Given the description of an element on the screen output the (x, y) to click on. 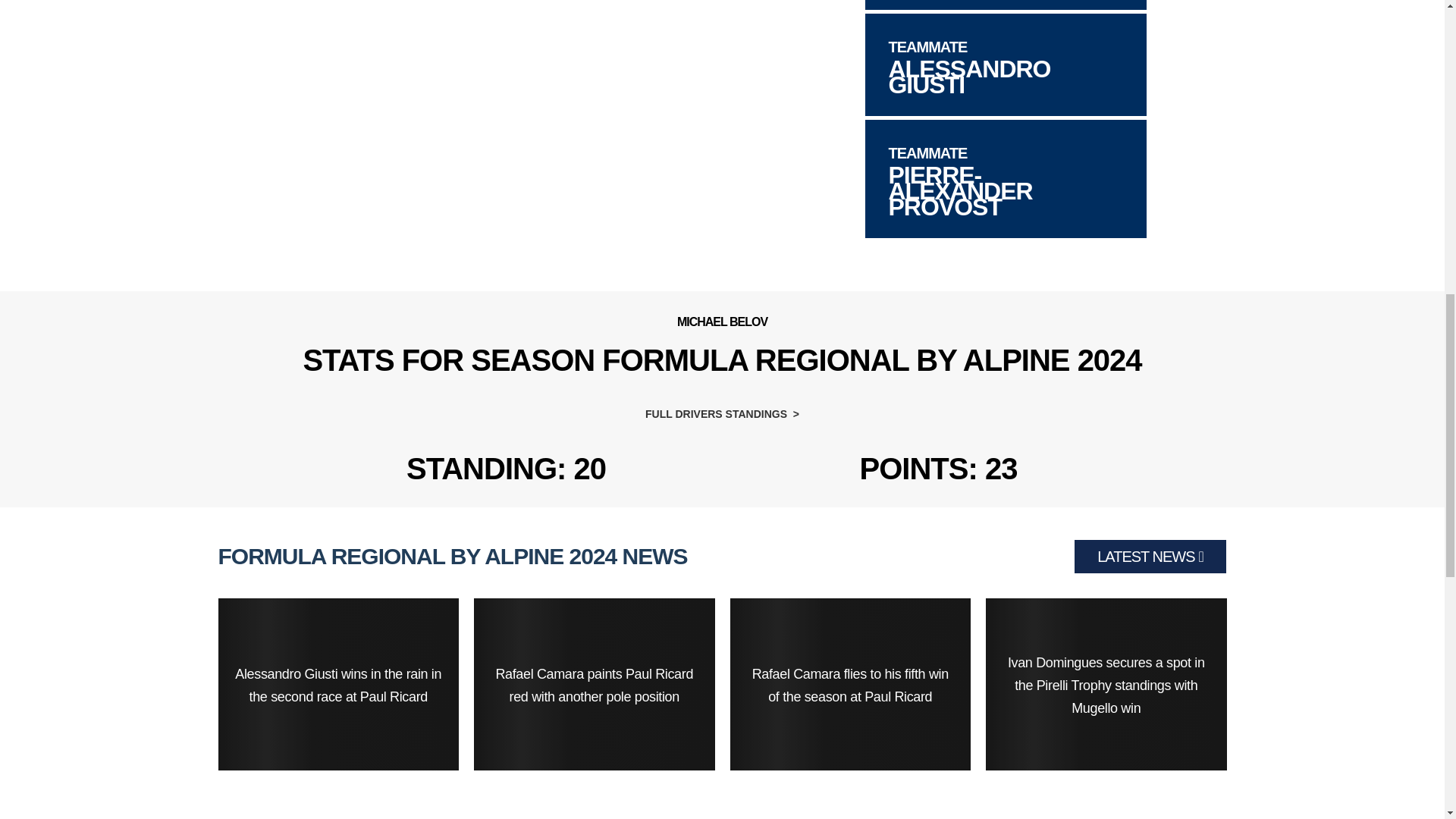
LATEST NEWS (1149, 556)
